Given the description of an element on the screen output the (x, y) to click on. 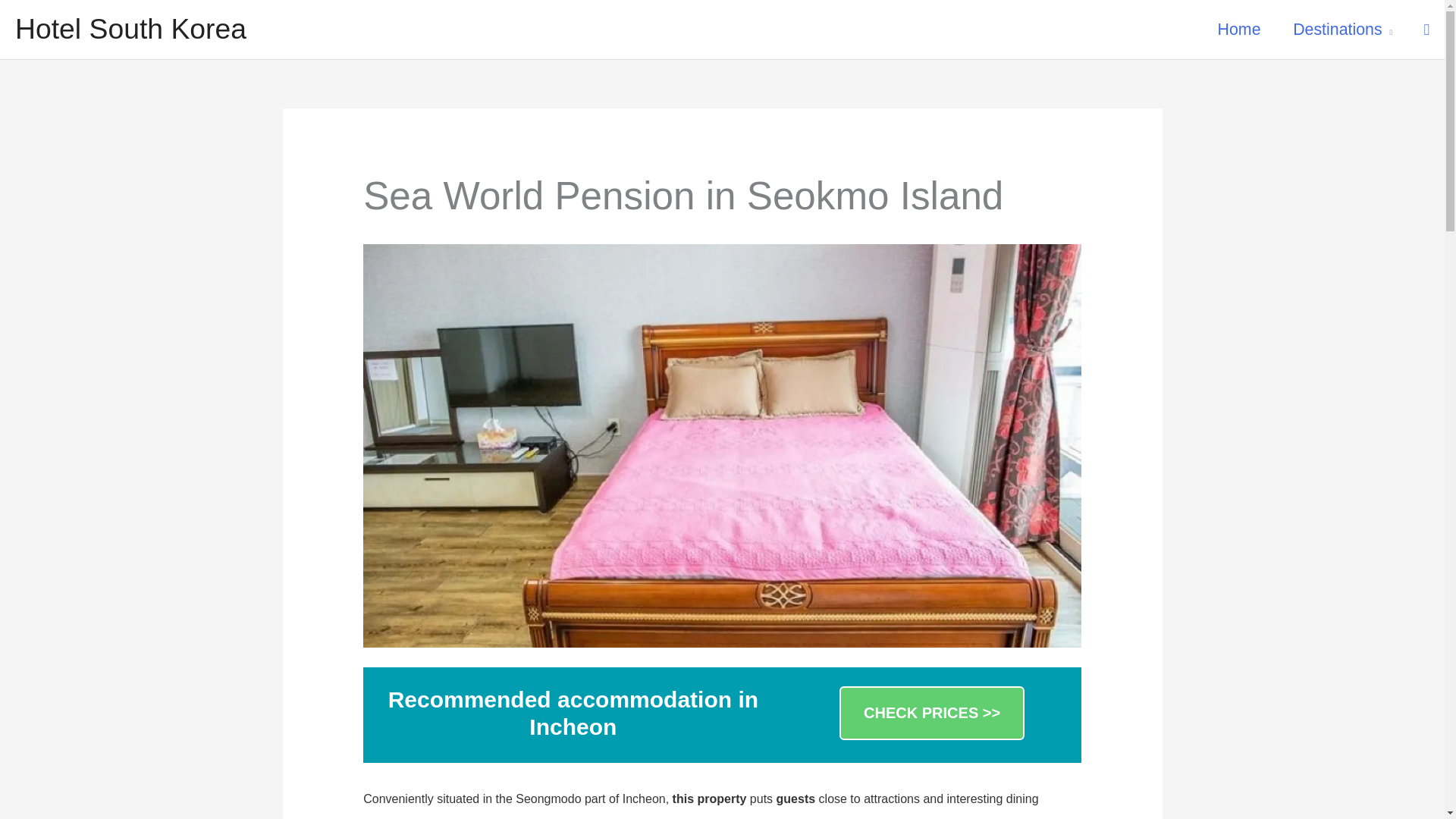
Destinations (1342, 29)
Hotel South Korea (130, 29)
Home (1238, 29)
